Given the description of an element on the screen output the (x, y) to click on. 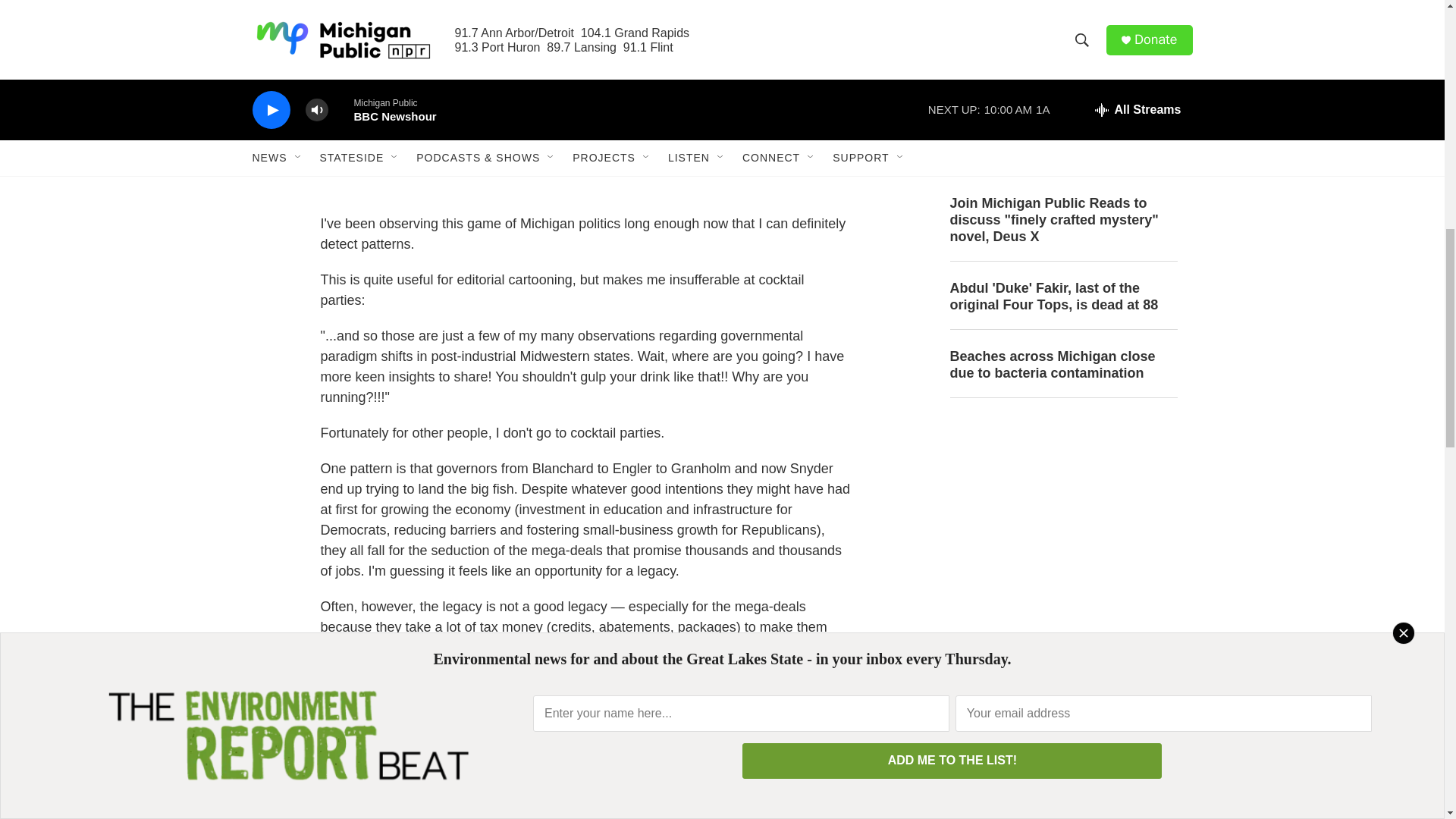
3rd party ad content (1062, 523)
3rd party ad content (1062, 733)
